Given the description of an element on the screen output the (x, y) to click on. 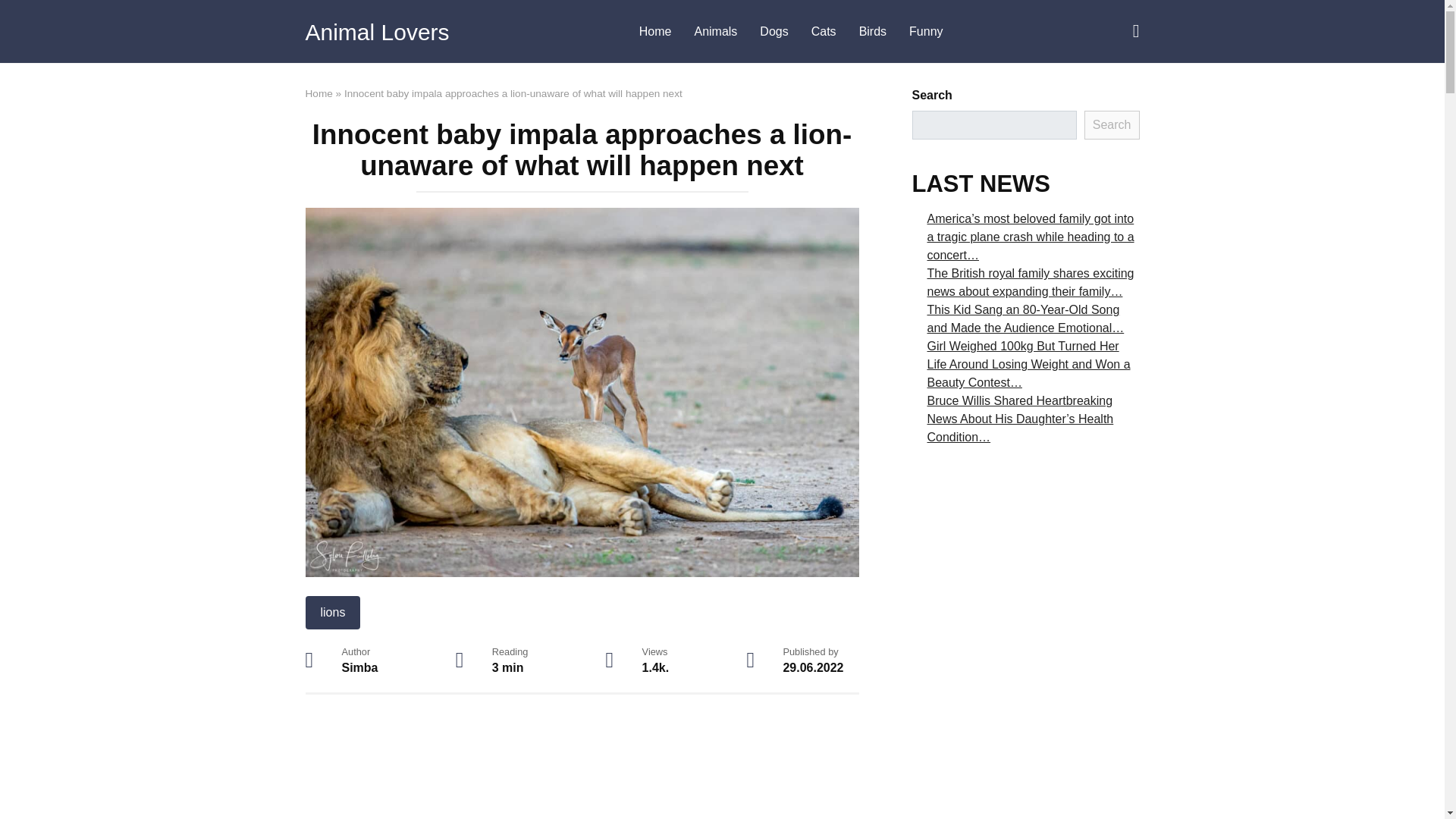
Cats (823, 31)
Animal Lovers (376, 32)
Birds (872, 31)
Home (654, 31)
Animals (715, 31)
lions (331, 612)
Home (317, 93)
Search (1112, 124)
Funny (925, 31)
Dogs (773, 31)
